Given the description of an element on the screen output the (x, y) to click on. 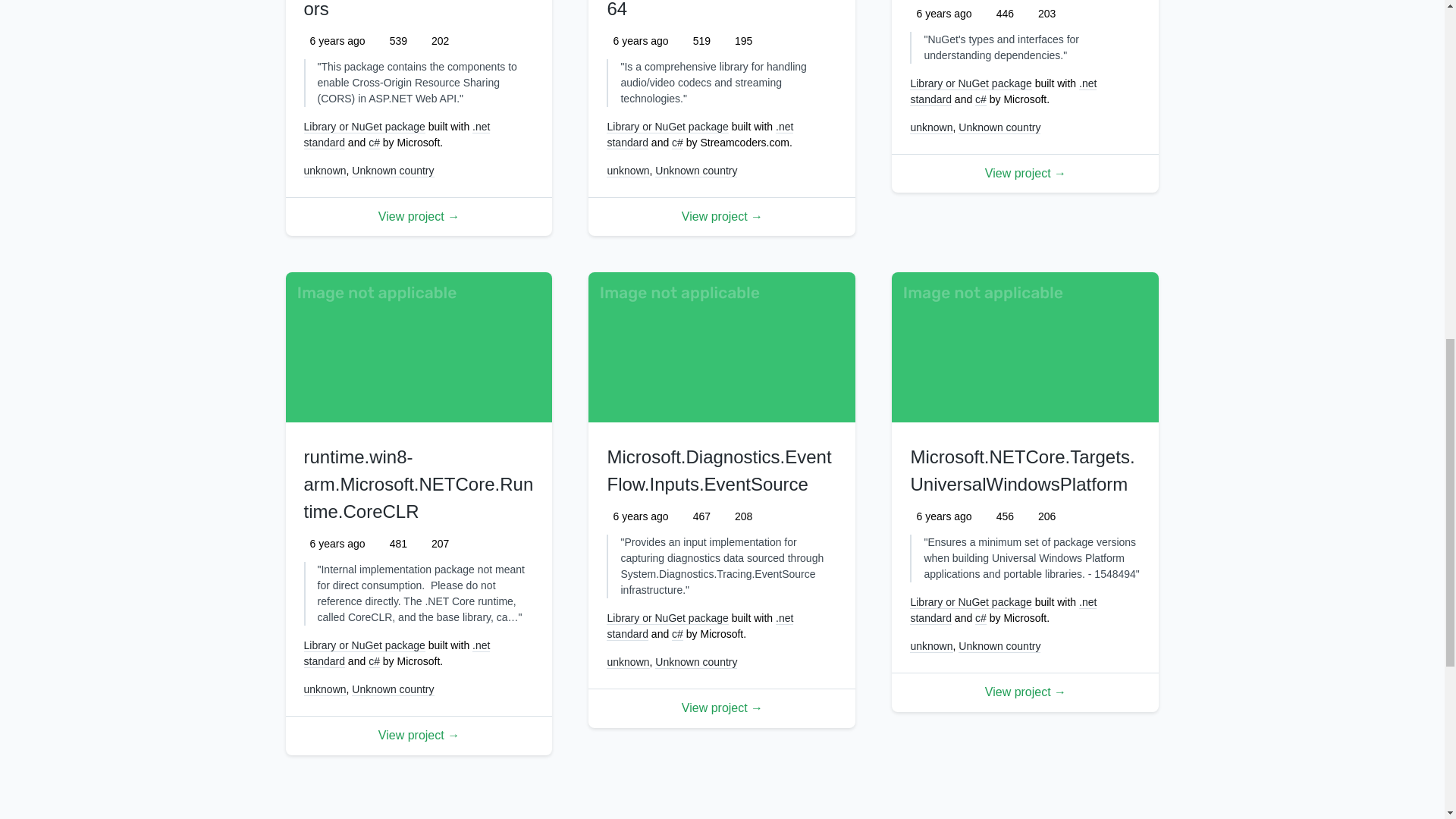
unknown (324, 170)
Microsoft.AspNet.WebApi.Cors (415, 9)
unknown (628, 170)
Unknown country (392, 170)
Library or NuGet package (363, 126)
.net standard (700, 134)
Streamcoders.MediaSuite.x64 (718, 9)
.net standard (395, 134)
Unknown country (695, 170)
Library or NuGet package (667, 126)
